Given the description of an element on the screen output the (x, y) to click on. 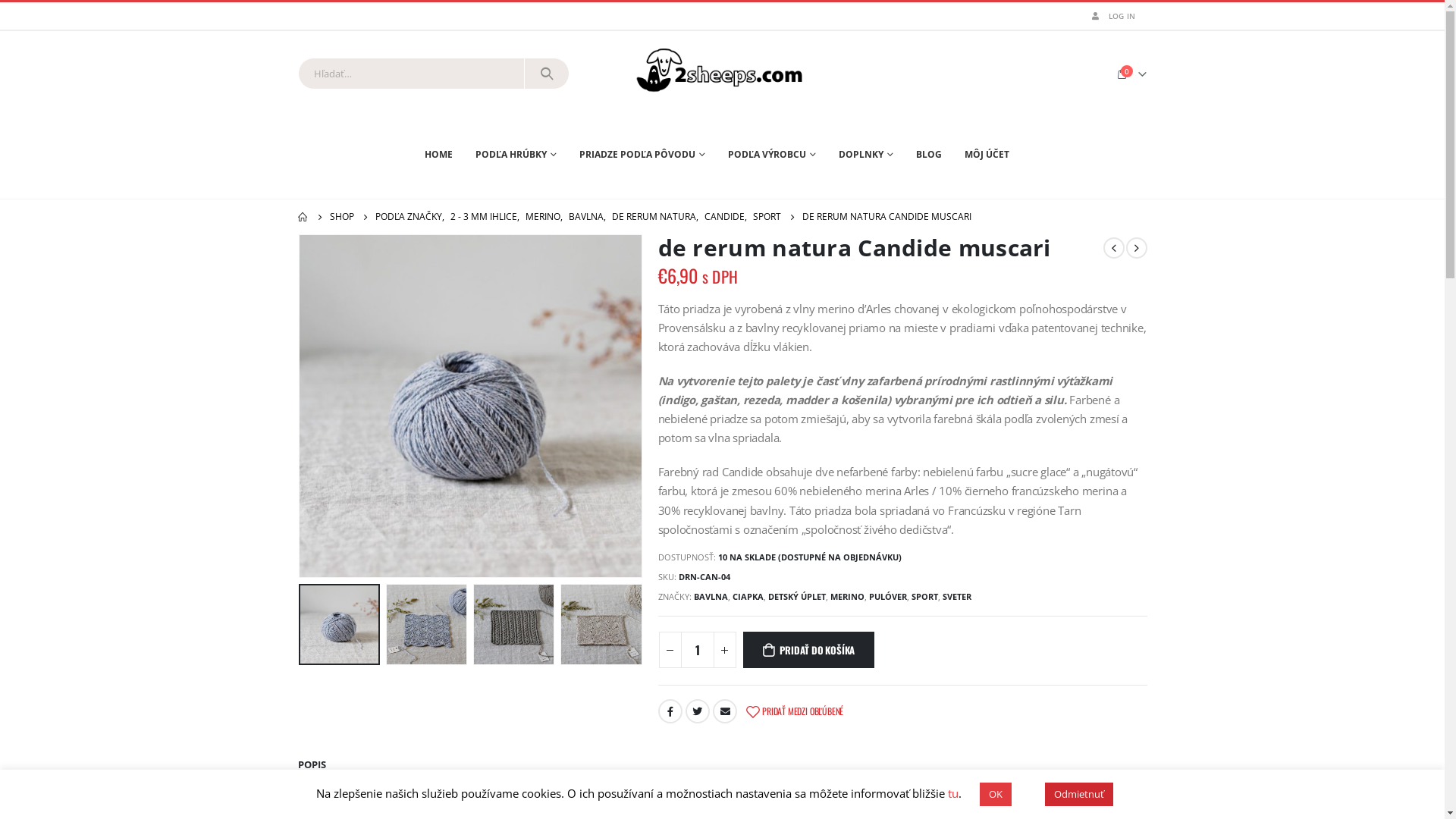
DOPLNKY Element type: text (865, 154)
SHOP Element type: text (341, 216)
OK Element type: text (995, 794)
CANDIDE Element type: text (723, 216)
CIAPKA Element type: text (747, 596)
LOG IN Element type: text (1112, 15)
MERINO Element type: text (846, 596)
BLOG Element type: text (928, 154)
Email Element type: text (724, 711)
Facebook Element type: text (670, 711)
- Element type: text (669, 649)
Twitter Element type: text (697, 711)
Search Element type: hover (546, 73)
+ Element type: text (723, 649)
De_rerum_natura_candide_muscari Element type: hover (469, 406)
BAVLNA Element type: text (585, 216)
MERINO Element type: text (541, 216)
Go to Home Page Element type: hover (302, 216)
SPORT Element type: text (766, 216)
DE RERUM NATURA Element type: text (653, 216)
BAVLNA Element type: text (710, 596)
SPORT Element type: text (924, 596)
tu Element type: text (952, 792)
2 - 3 MM IHLICE Element type: text (483, 216)
HOME Element type: text (443, 154)
SVETER Element type: text (955, 596)
